Given the description of an element on the screen output the (x, y) to click on. 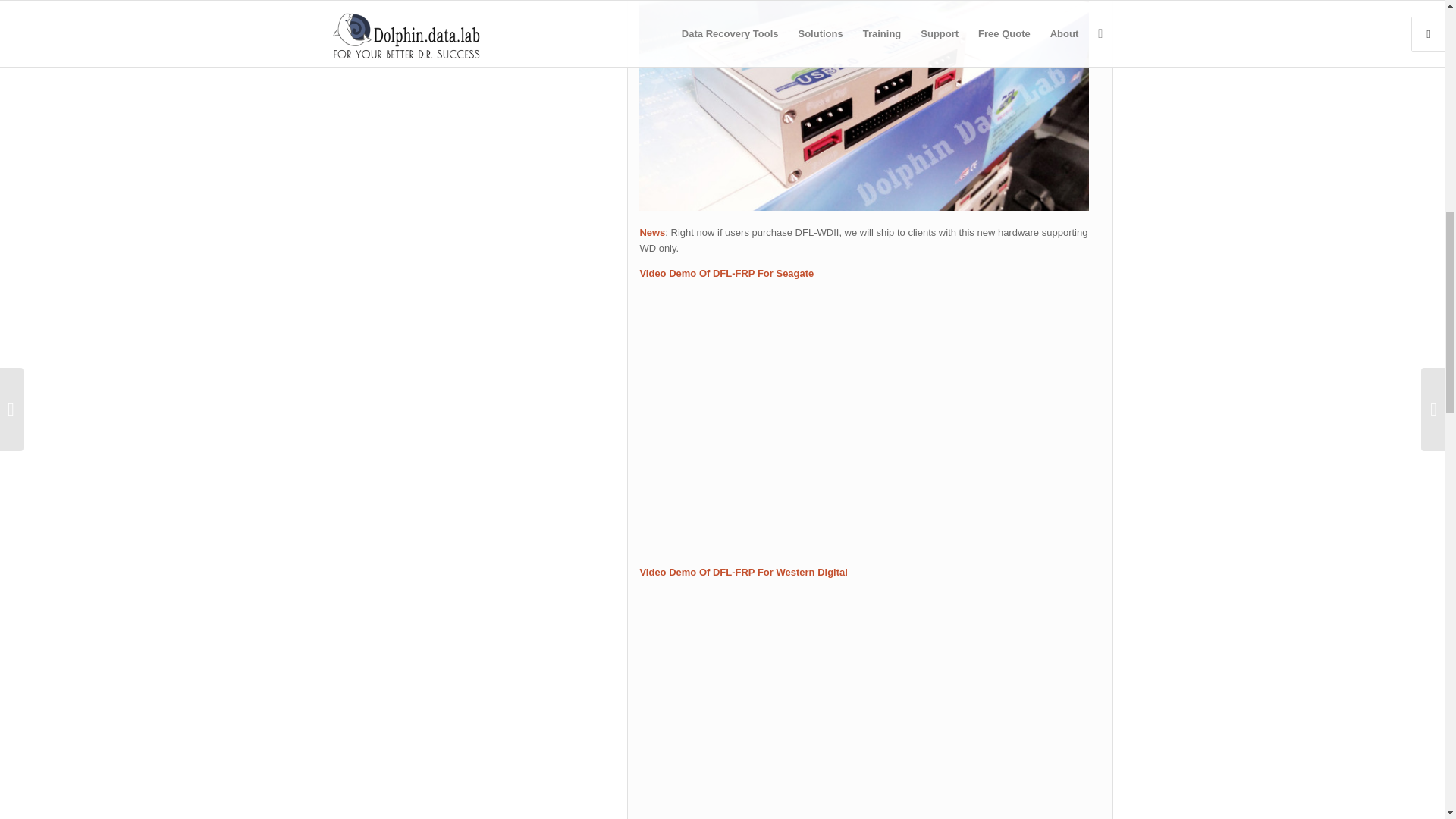
DFL WD Firmware Repair Version 2.63 Quick Video Demo (869, 703)
DFL Seagate Firmware Repair V1.5 Video Introduction (869, 418)
